Given the description of an element on the screen output the (x, y) to click on. 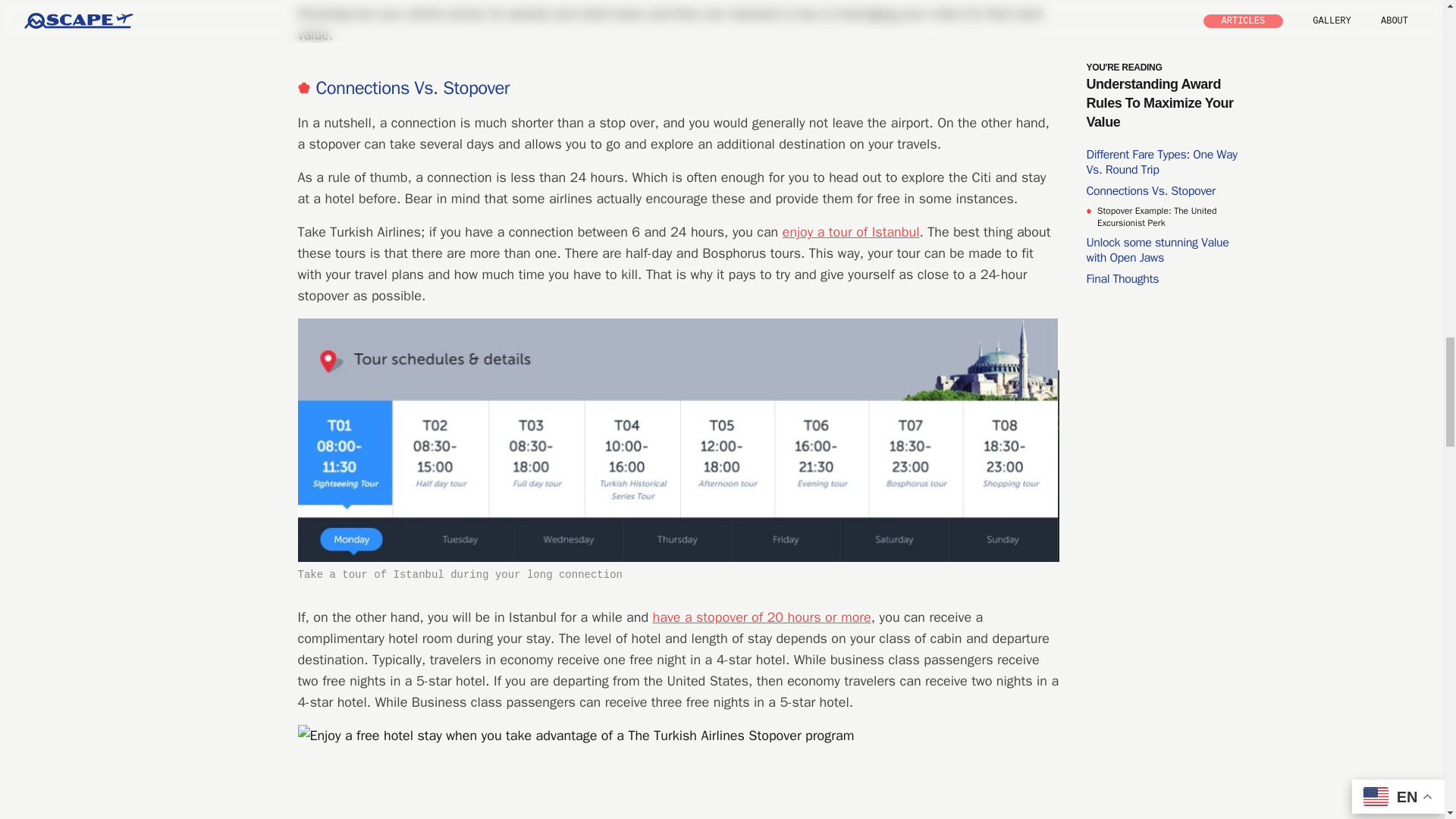
have a stopover of 20 hours or more (761, 617)
enjoy a tour of Istanbul (851, 231)
